Given the description of an element on the screen output the (x, y) to click on. 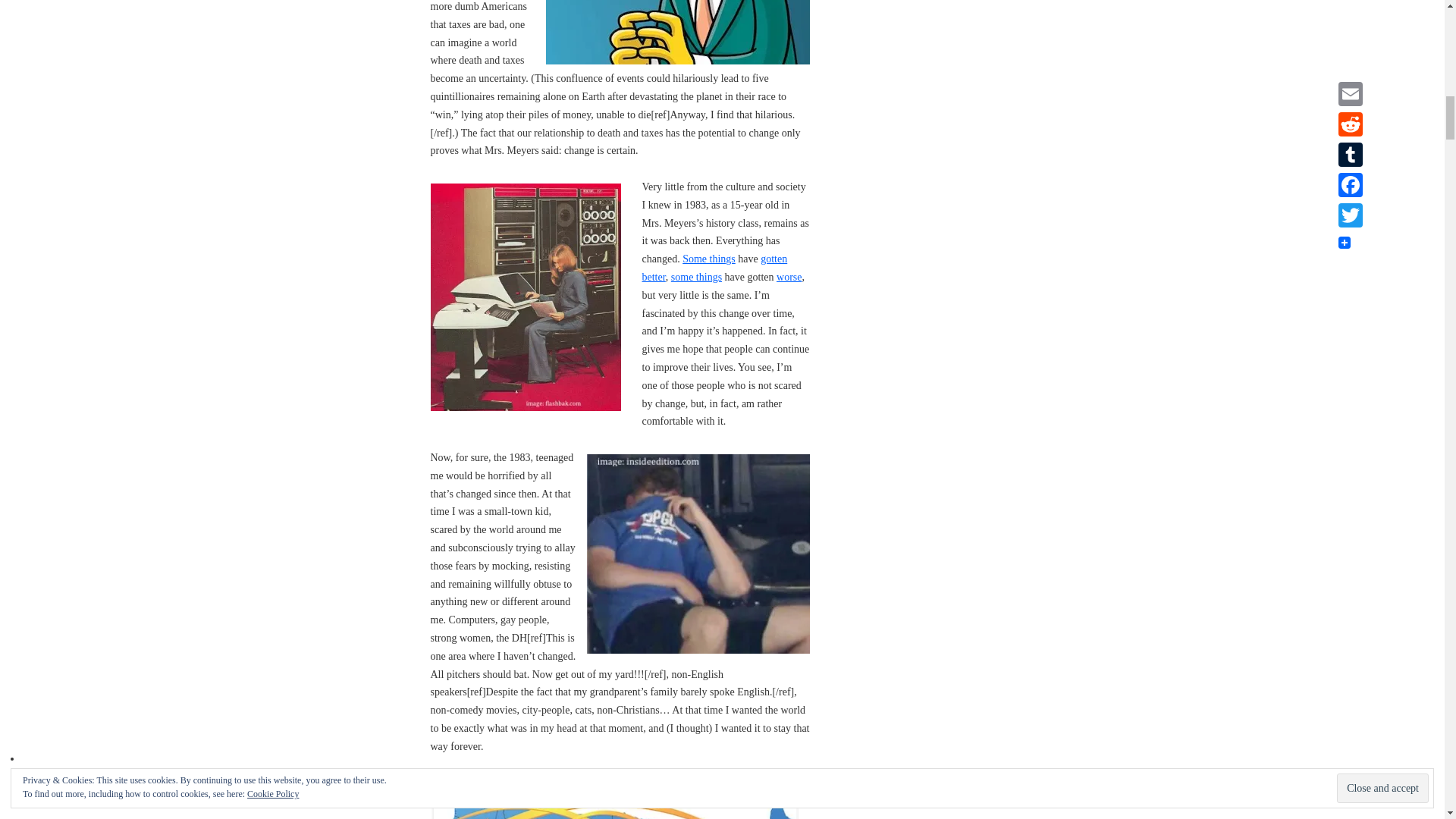
gotten better (714, 267)
some things (696, 276)
worse (789, 276)
Some things (708, 258)
